Given the description of an element on the screen output the (x, y) to click on. 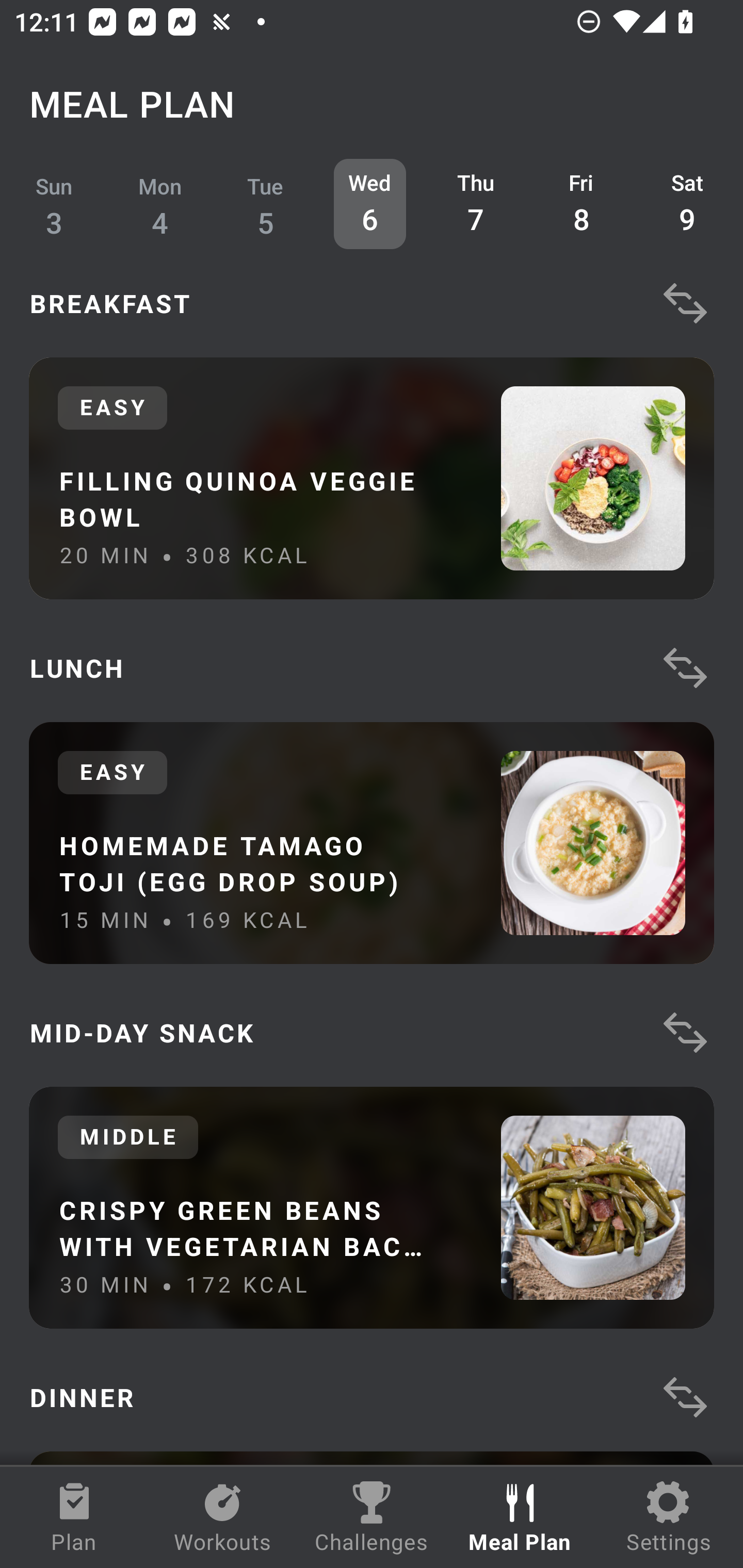
Wed 6 (369, 203)
Thu 7 (475, 203)
Fri 8 (581, 203)
Sat 9 (687, 203)
EASY FILLING QUINOA VEGGIE BOWL 20 MIN • 308 KCAL (371, 477)
 Plan  (74, 1517)
 Workouts  (222, 1517)
 Challenges  (371, 1517)
 Settings  (668, 1517)
